Given the description of an element on the screen output the (x, y) to click on. 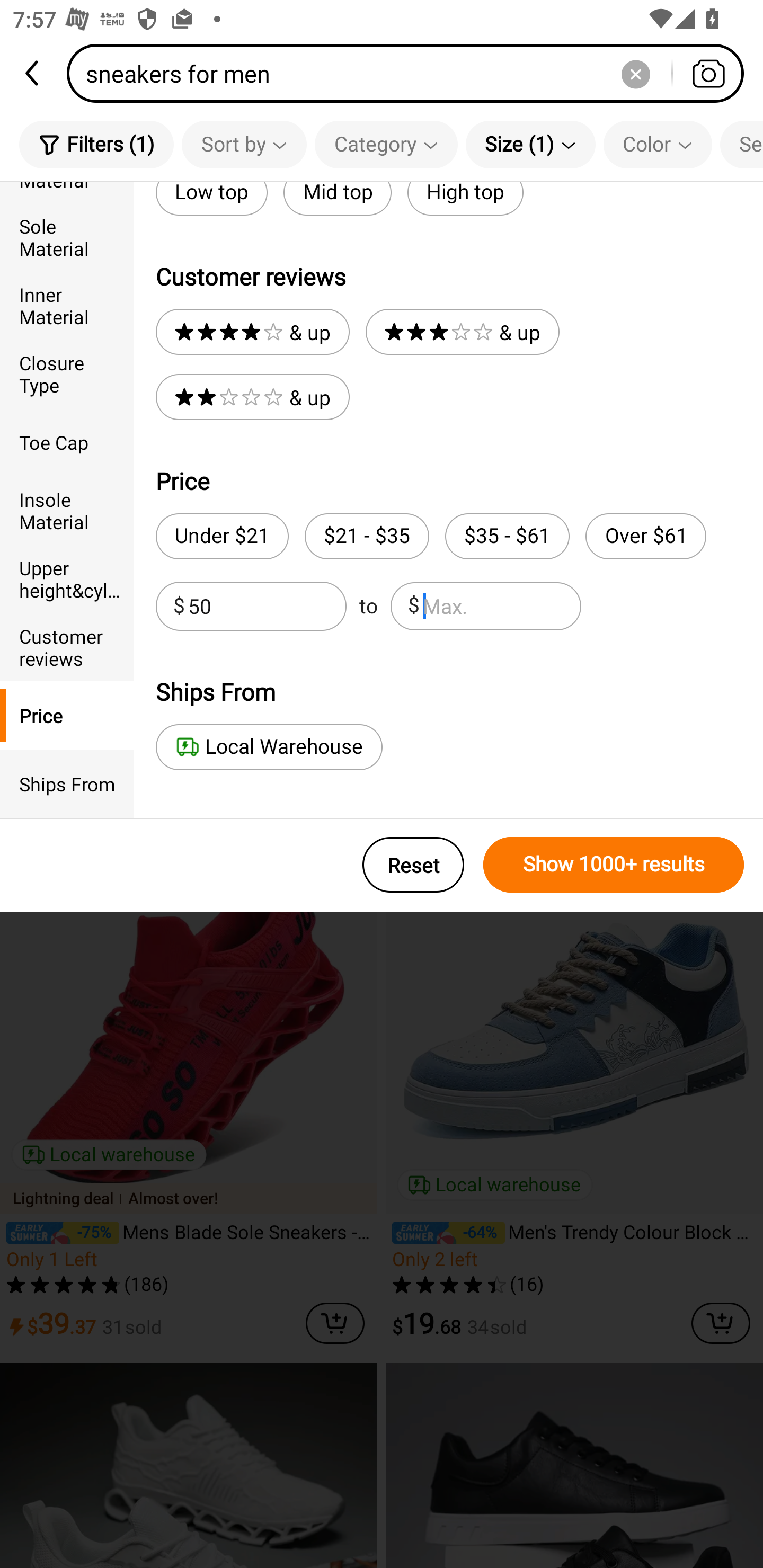
back (33, 72)
sneakers for men (411, 73)
Delete search history (635, 73)
Search by photo (708, 73)
Filters (1) (96, 143)
Sort by (243, 143)
Category (385, 143)
Size (1) (530, 143)
Color (657, 143)
Low top (211, 198)
Mid top (337, 198)
High top (465, 198)
Sole Material (66, 236)
Inner Material (66, 305)
& up (252, 331)
& up (462, 331)
Closure Type (66, 373)
& up (252, 397)
Toe Cap (66, 441)
Insole Material (66, 510)
Under $21 (221, 535)
$21 - $35 (366, 535)
$35 - $61 (506, 535)
Over $61 (645, 535)
Upper height&cylinder height (66, 578)
$ 50 to $ Max. (368, 605)
Customer reviews (66, 646)
Price (66, 714)
Local Warehouse (268, 746)
Ships From (66, 783)
Reset (412, 864)
Show 1000+ results (612, 864)
